Given the description of an element on the screen output the (x, y) to click on. 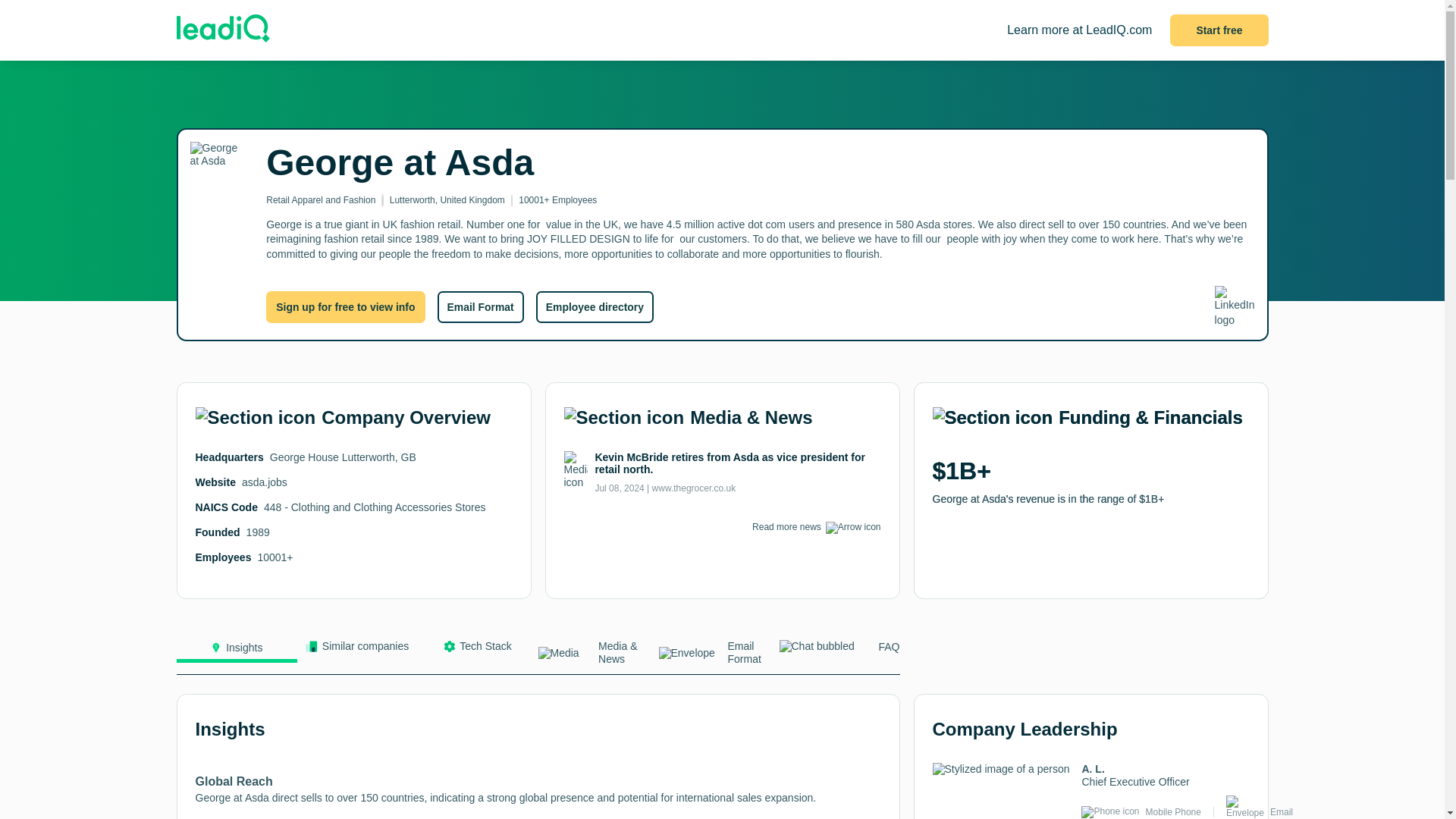
Read more news (786, 526)
Email (1280, 811)
Email Format (718, 656)
Email Format (479, 306)
Insights (236, 651)
Similar companies (357, 649)
FAQ (838, 649)
Start free (1219, 29)
Learn more at LeadIQ.com (1079, 29)
Employee directory (594, 306)
